Given the description of an element on the screen output the (x, y) to click on. 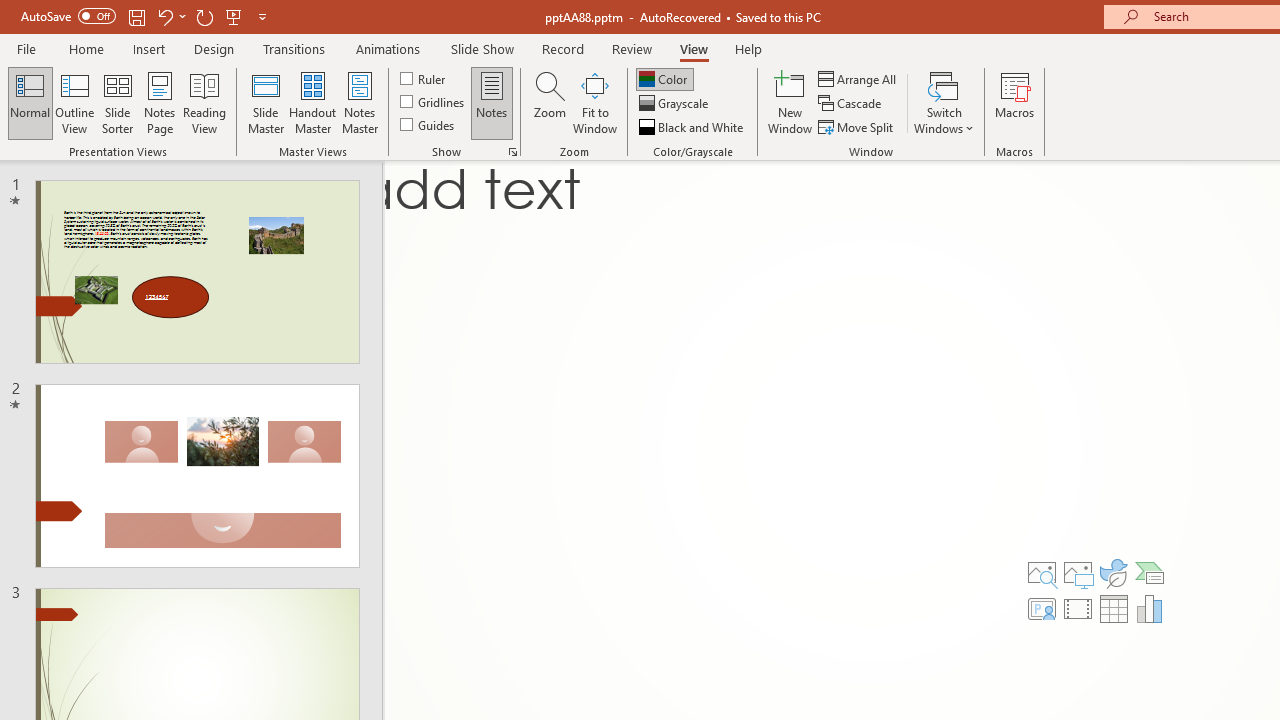
Handout Master (312, 102)
Move Split (857, 126)
Outline View (74, 102)
Switch Windows (943, 102)
Arrange All (858, 78)
Macros (1014, 102)
Cascade (851, 103)
Insert Chart (1150, 608)
Insert Cameo (1042, 608)
Stock Images (1042, 572)
Insert an Icon (1114, 572)
Insert Table (1114, 608)
